Given the description of an element on the screen output the (x, y) to click on. 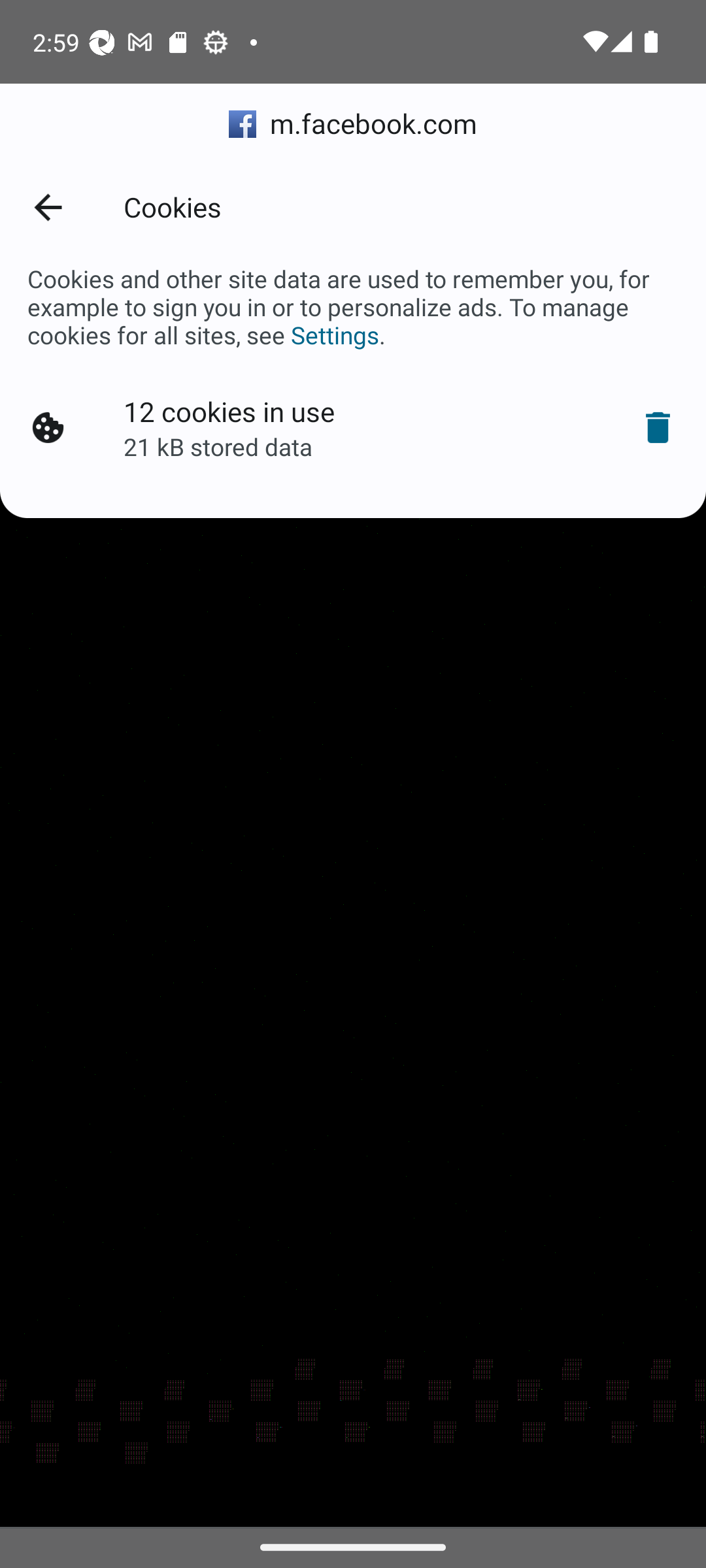
m.facebook.com (353, 124)
Back (47, 206)
12 cookies in use 21 kB stored data Clear cookies? (353, 427)
